Given the description of an element on the screen output the (x, y) to click on. 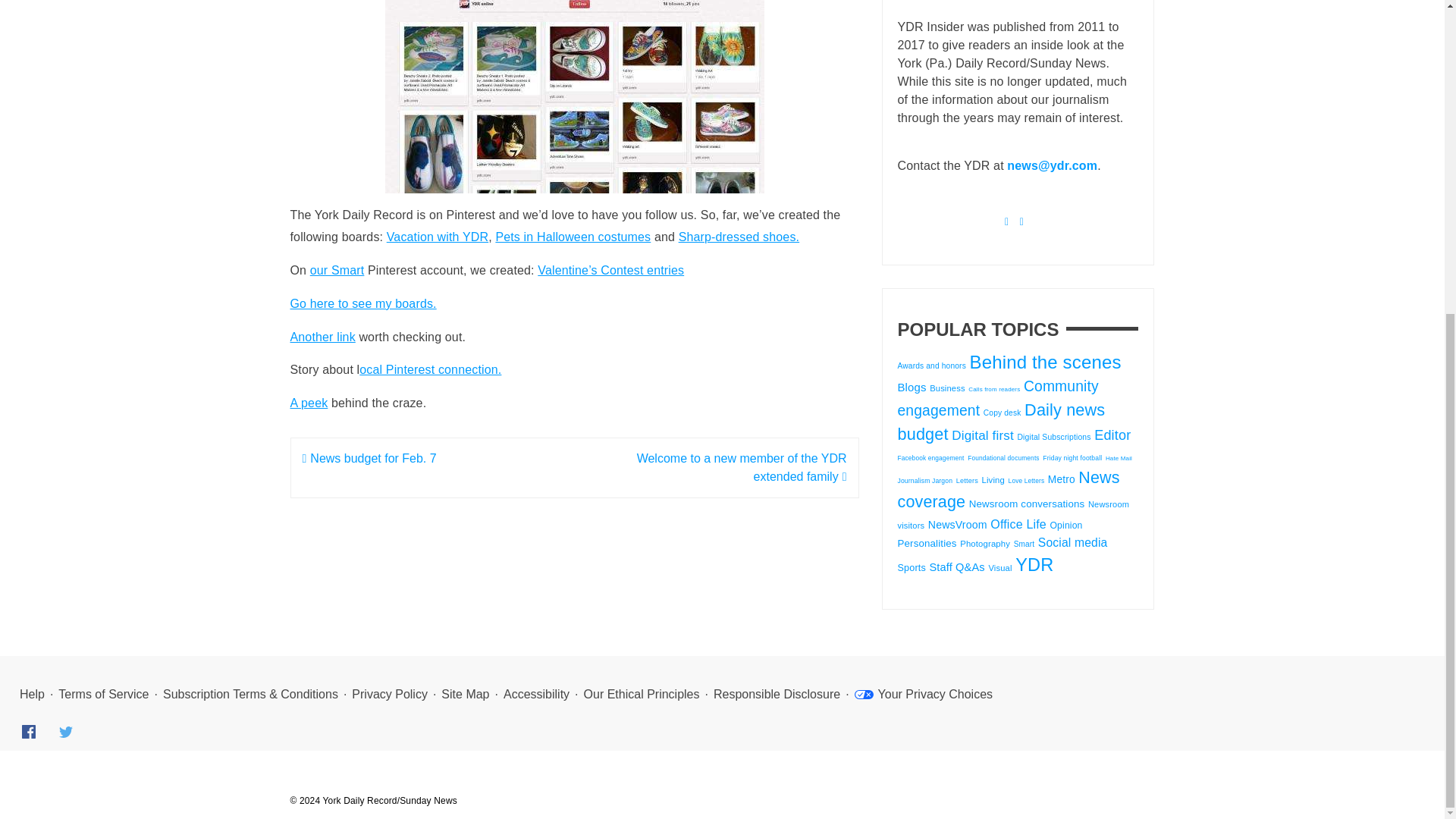
Blogs (912, 386)
Community engagement (998, 398)
Daily news budget (1001, 422)
Go here to see my boards. (362, 303)
our Smart (337, 269)
Digital first (982, 435)
Digital Subscriptions (1053, 437)
Another link (322, 336)
Vacation with YDR (437, 236)
Sharp-dressed shoes. (738, 236)
Editor (1112, 435)
ocal Pinterest connection. (429, 369)
Facebook engagement (930, 457)
Calls from readers (994, 389)
Copy desk (1003, 412)
